Given the description of an element on the screen output the (x, y) to click on. 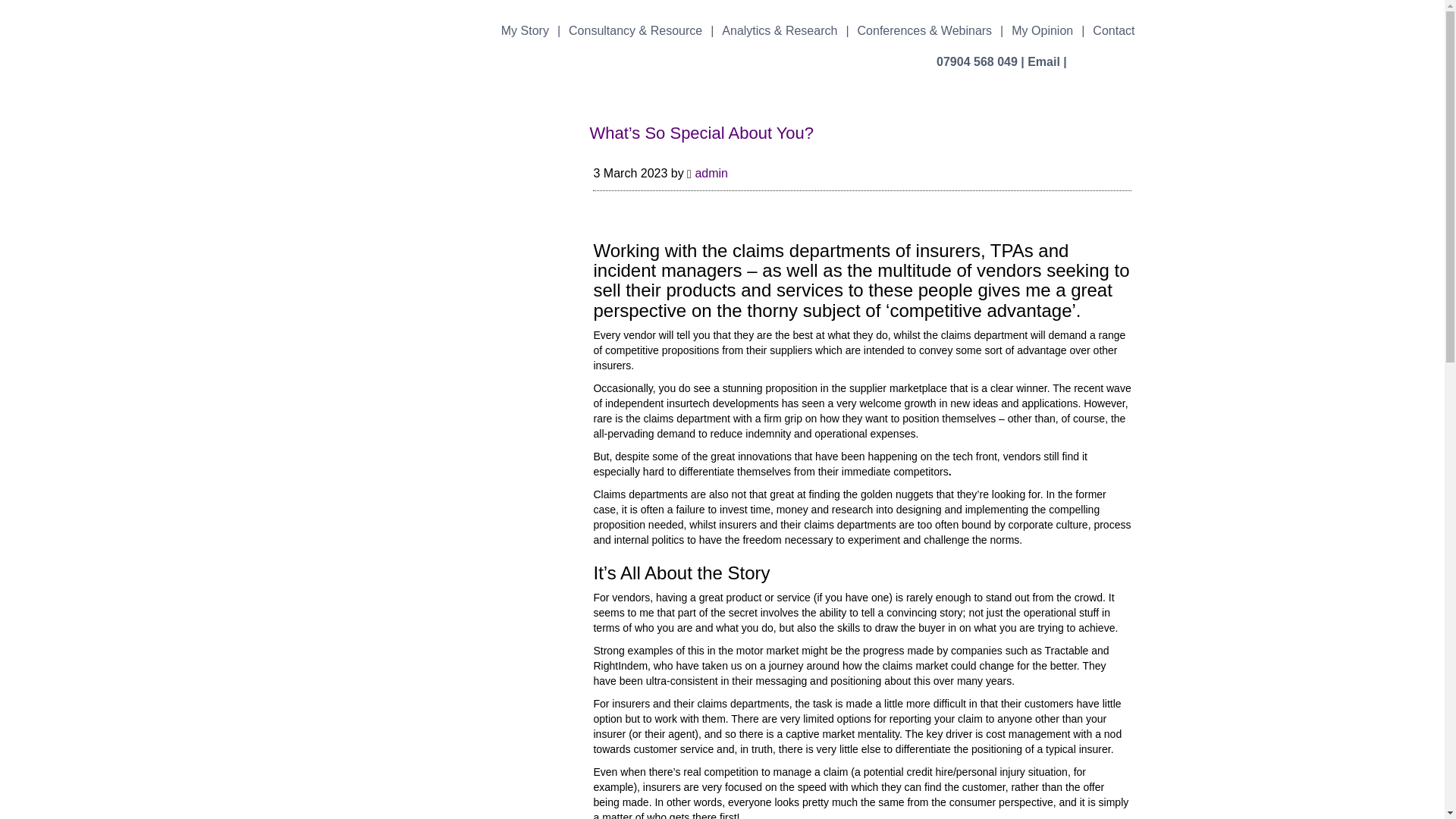
admin (711, 173)
Contact (1113, 30)
Email (1043, 61)
My Story (525, 30)
My Opinion (1042, 30)
